Given the description of an element on the screen output the (x, y) to click on. 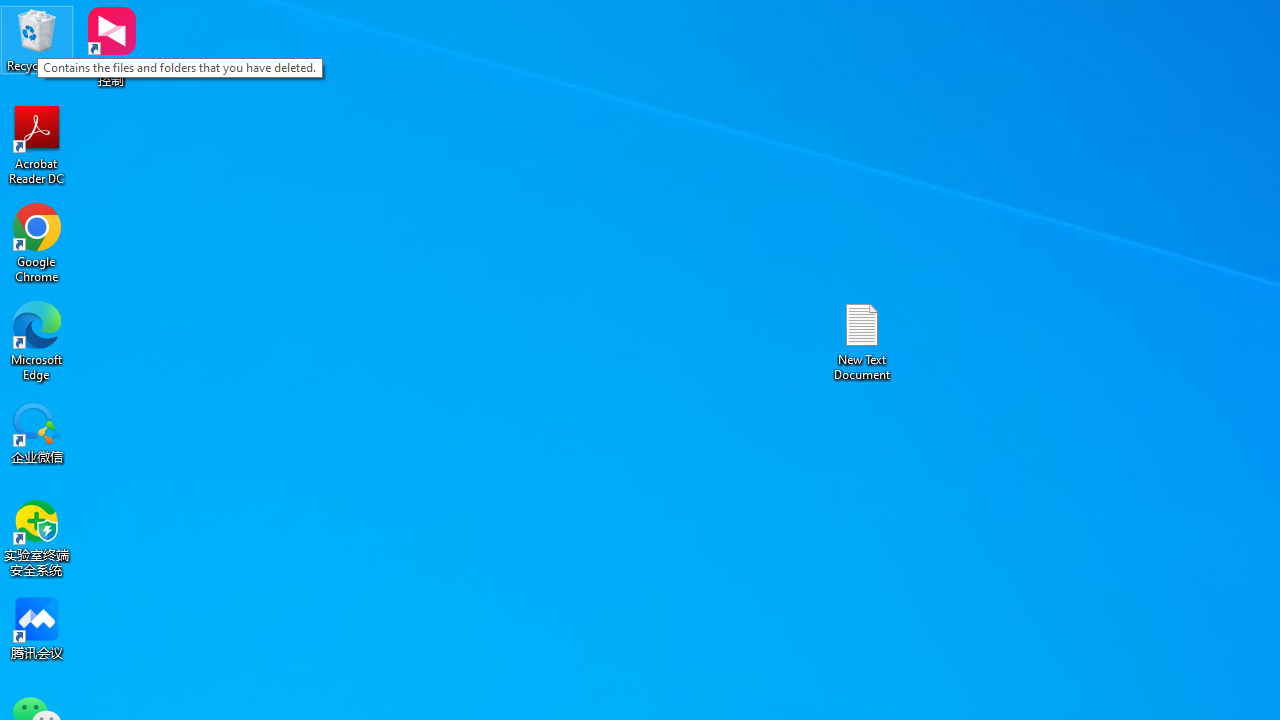
New Text Document (861, 340)
Acrobat Reader DC (37, 144)
Google Chrome (37, 242)
Recycle Bin (37, 39)
Microsoft Edge (37, 340)
